Given the description of an element on the screen output the (x, y) to click on. 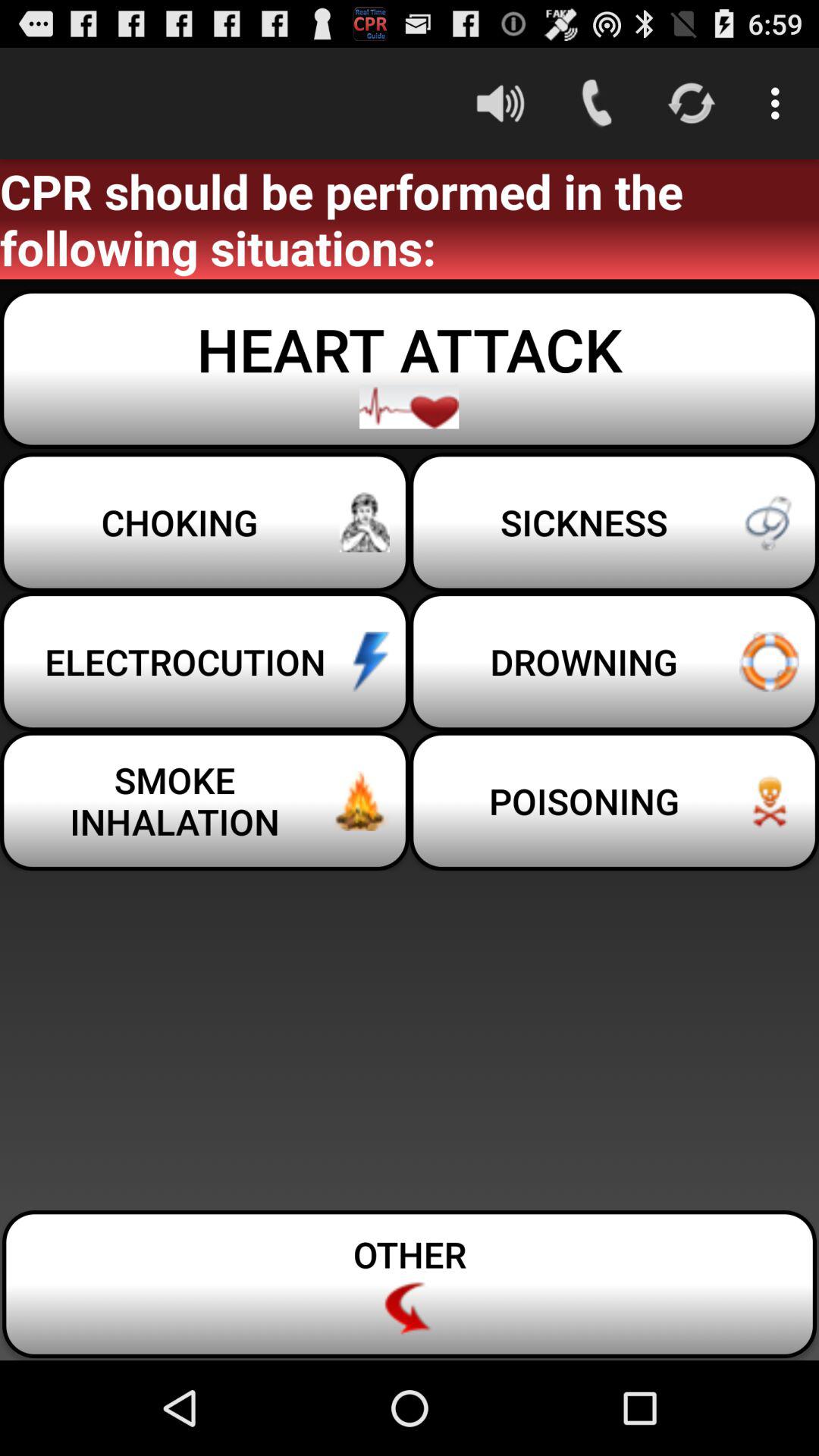
scroll to the choking button (204, 522)
